Given the description of an element on the screen output the (x, y) to click on. 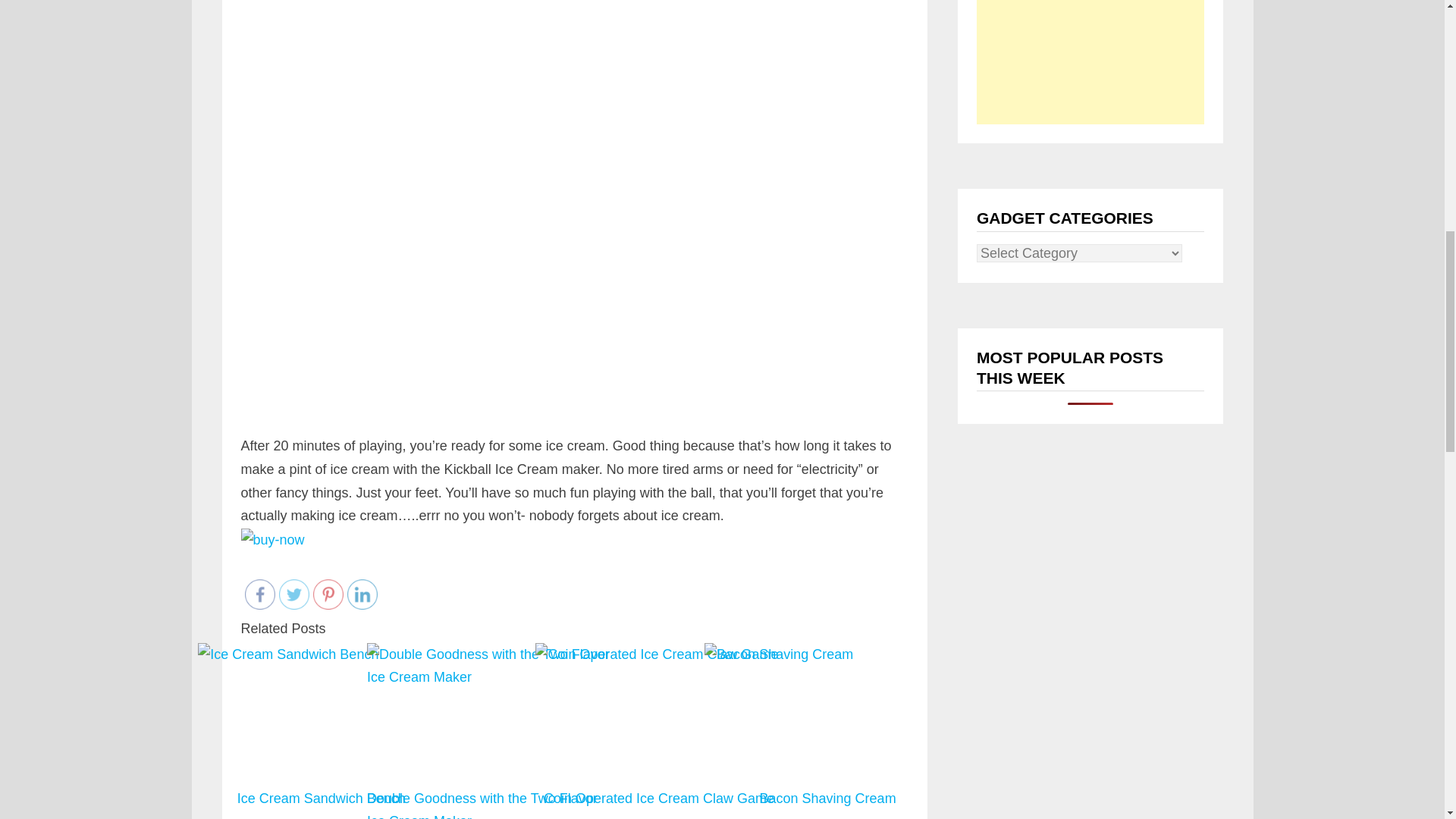
Facebook (259, 594)
Twitter (293, 594)
Bacon Shaving Cream (827, 730)
Pinterest (327, 594)
LinkedIn (362, 594)
Double Goodness with the Two Flavor Ice Cream Maker (490, 729)
Coin Operated Ice Cream Claw Game (658, 654)
Ice Cream Sandwich Bench (320, 729)
Coin Operated Ice Cream Claw Game (658, 729)
Double Goodness with the Two Flavor Ice Cream Maker (489, 665)
Ice Cream Sandwich Bench (321, 704)
Bacon Shaving Cream (827, 729)
